Given the description of an element on the screen output the (x, y) to click on. 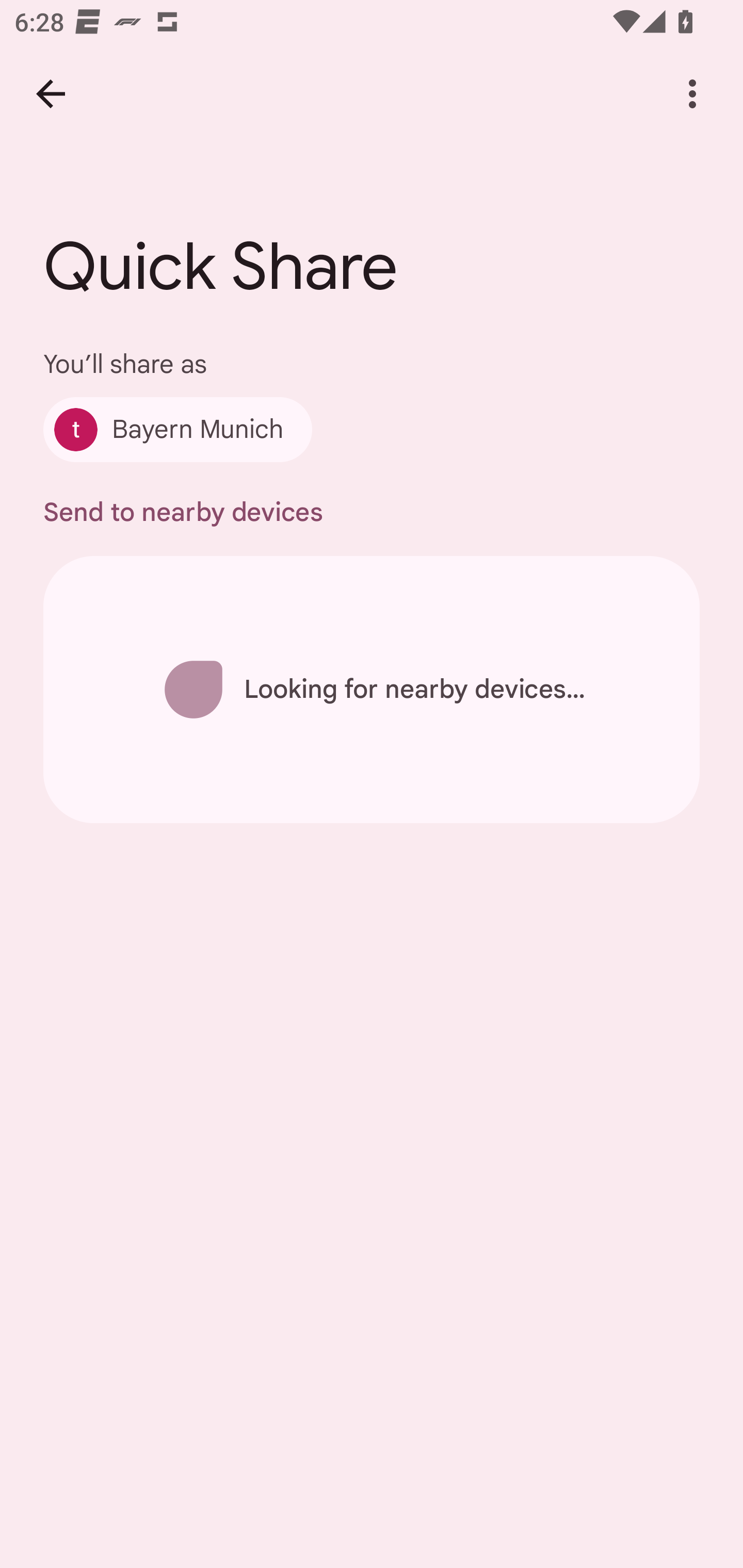
Back (50, 93)
More (692, 93)
Bayern Munich (177, 429)
